Given the description of an element on the screen output the (x, y) to click on. 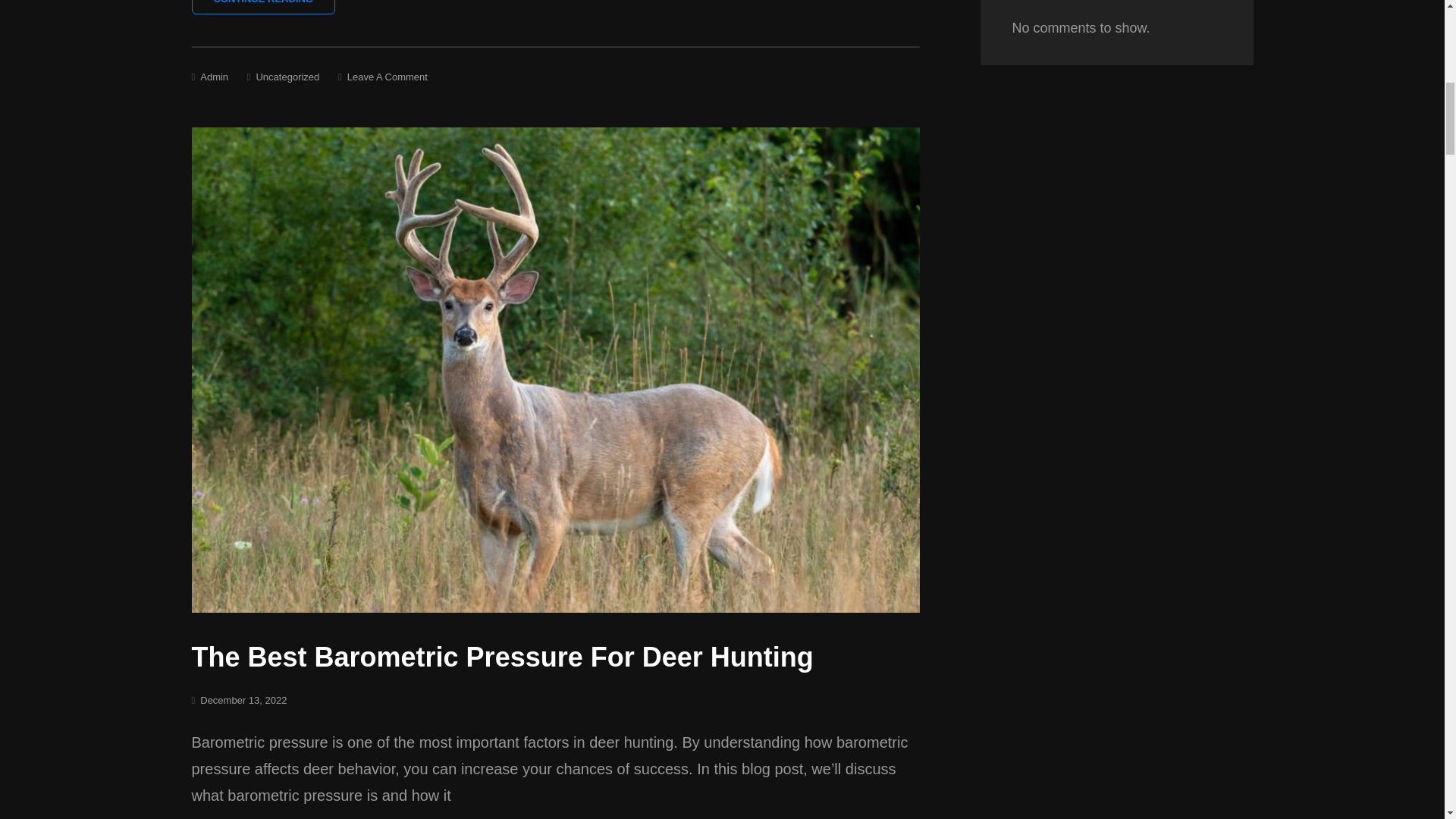
Leave A Comment (387, 76)
The Best Barometric Pressure For Deer Hunting (501, 656)
December 13, 2022 (243, 699)
Uncategorized (262, 7)
Admin (287, 76)
The Best Barometric Pressure for Deer Hunting (214, 76)
